Given the description of an element on the screen output the (x, y) to click on. 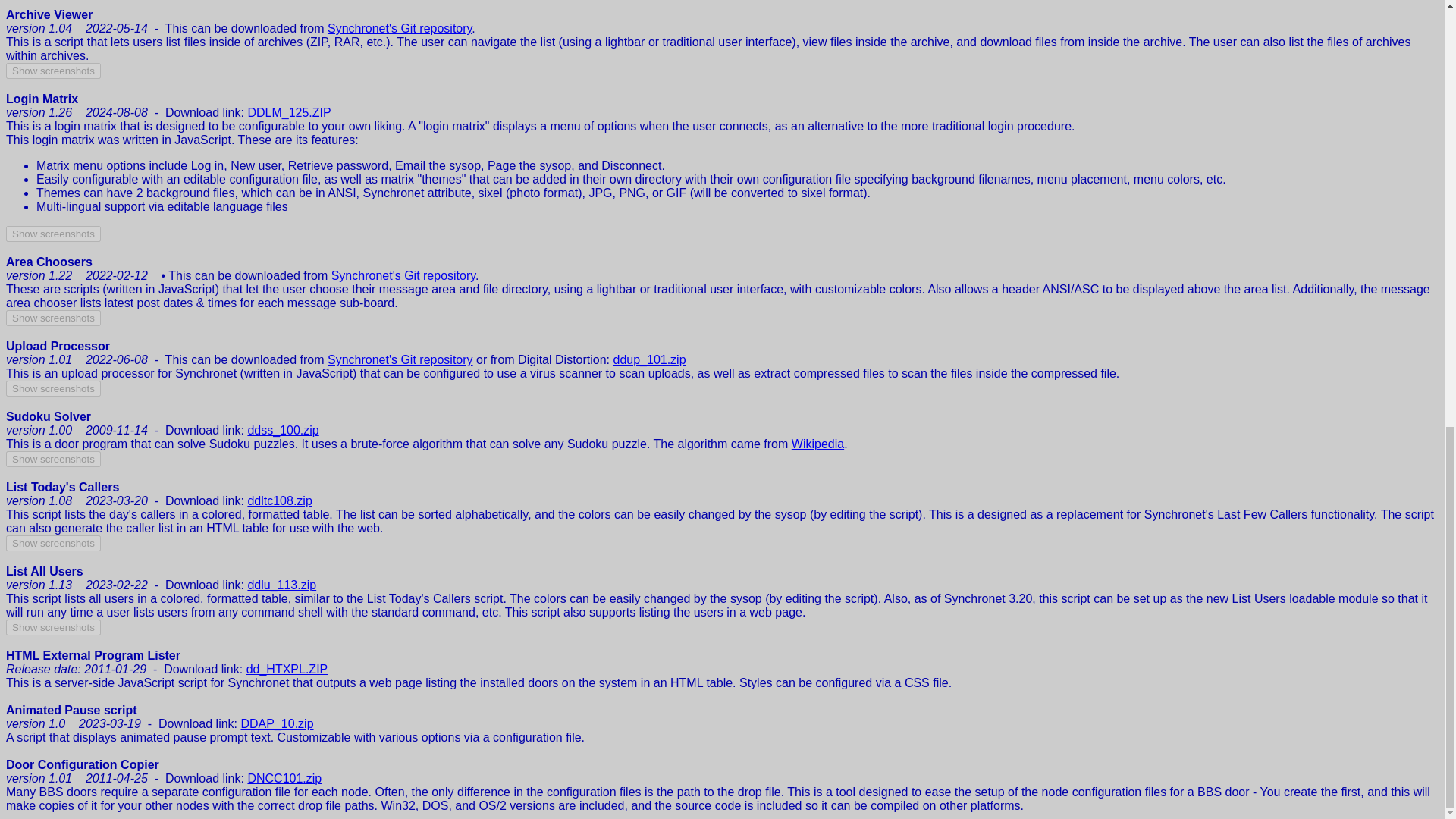
Synchronet's Git repository (403, 275)
Show screenshots (52, 70)
Synchronet's Git repository (400, 359)
Show screenshots (52, 317)
Synchronet's Git repository (399, 28)
Show screenshots (52, 233)
